Given the description of an element on the screen output the (x, y) to click on. 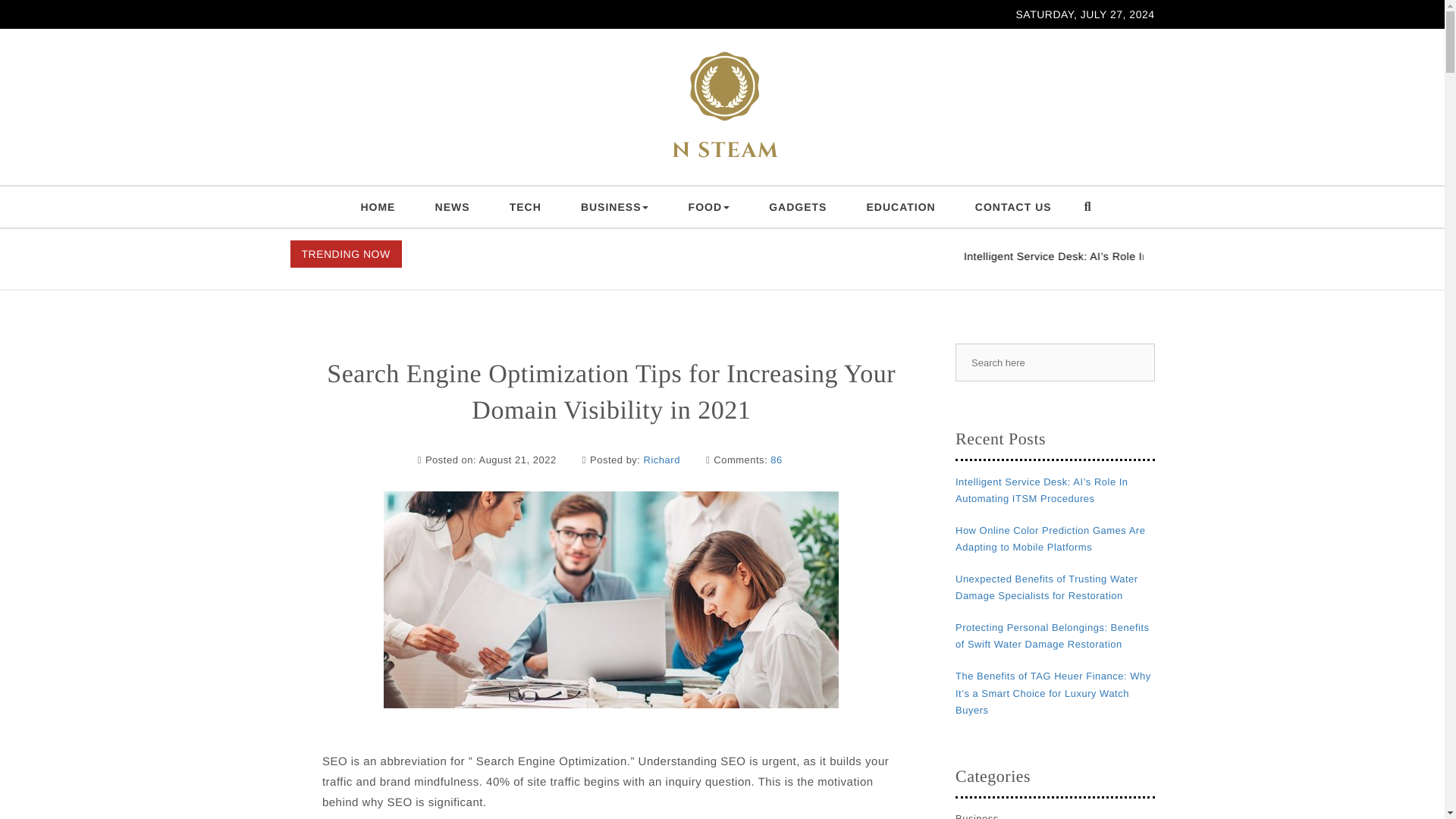
TECH (525, 206)
BUSINESS (614, 206)
Richard (661, 460)
FOOD (708, 206)
EDUCATION (900, 206)
CONTACT US (1013, 206)
NEWS (451, 206)
GADGETS (797, 206)
HOME (377, 206)
